Given the description of an element on the screen output the (x, y) to click on. 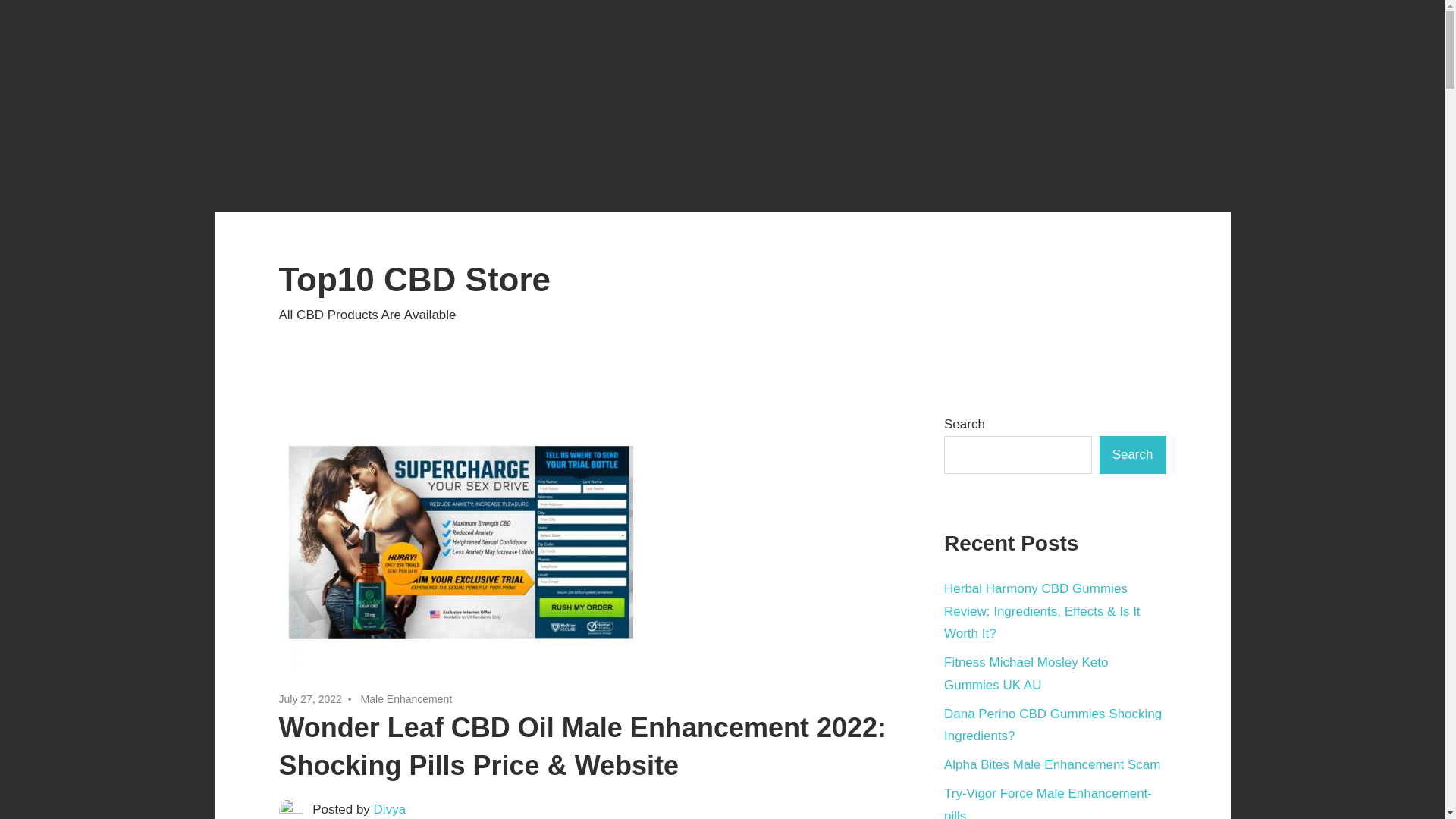
Divya (390, 809)
Top10 CBD Store (415, 279)
Male Enhancement (406, 698)
View all posts by Divya (390, 809)
3:08 am (310, 698)
July 27, 2022 (310, 698)
